Given the description of an element on the screen output the (x, y) to click on. 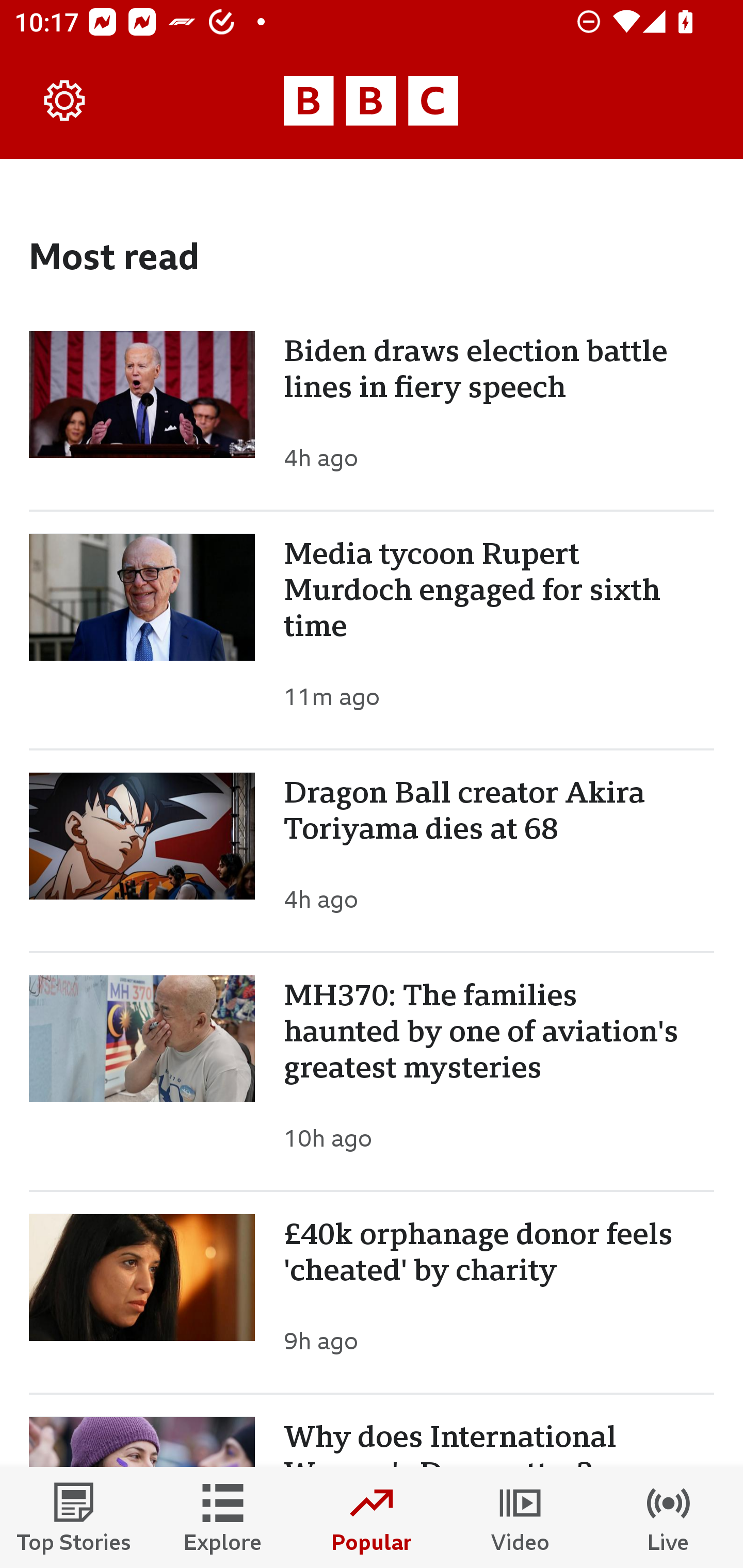
Settings (64, 100)
Top Stories (74, 1517)
Explore (222, 1517)
Video (519, 1517)
Live (668, 1517)
